Given the description of an element on the screen output the (x, y) to click on. 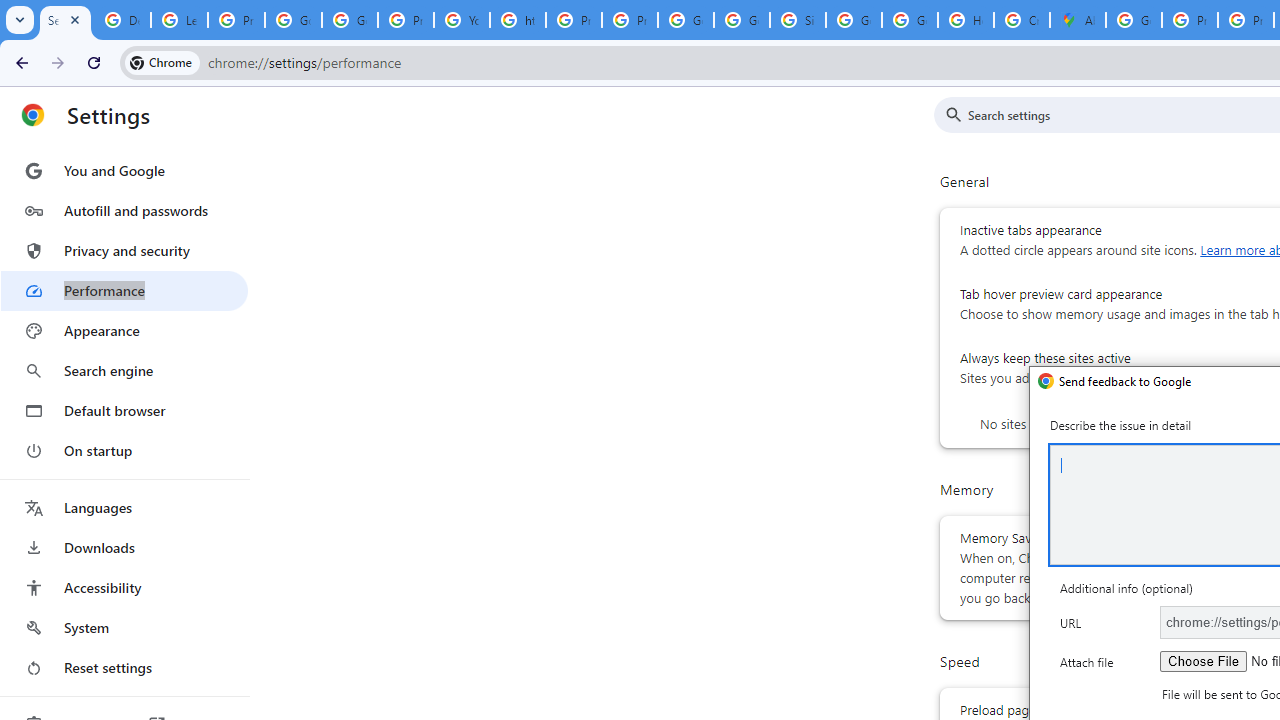
You and Google (124, 170)
Privacy and security (124, 250)
YouTube (461, 20)
Performance (124, 290)
Settings - Performance (65, 20)
Default browser (124, 410)
Sign in - Google Accounts (797, 20)
Autofill and passwords (124, 210)
